Given the description of an element on the screen output the (x, y) to click on. 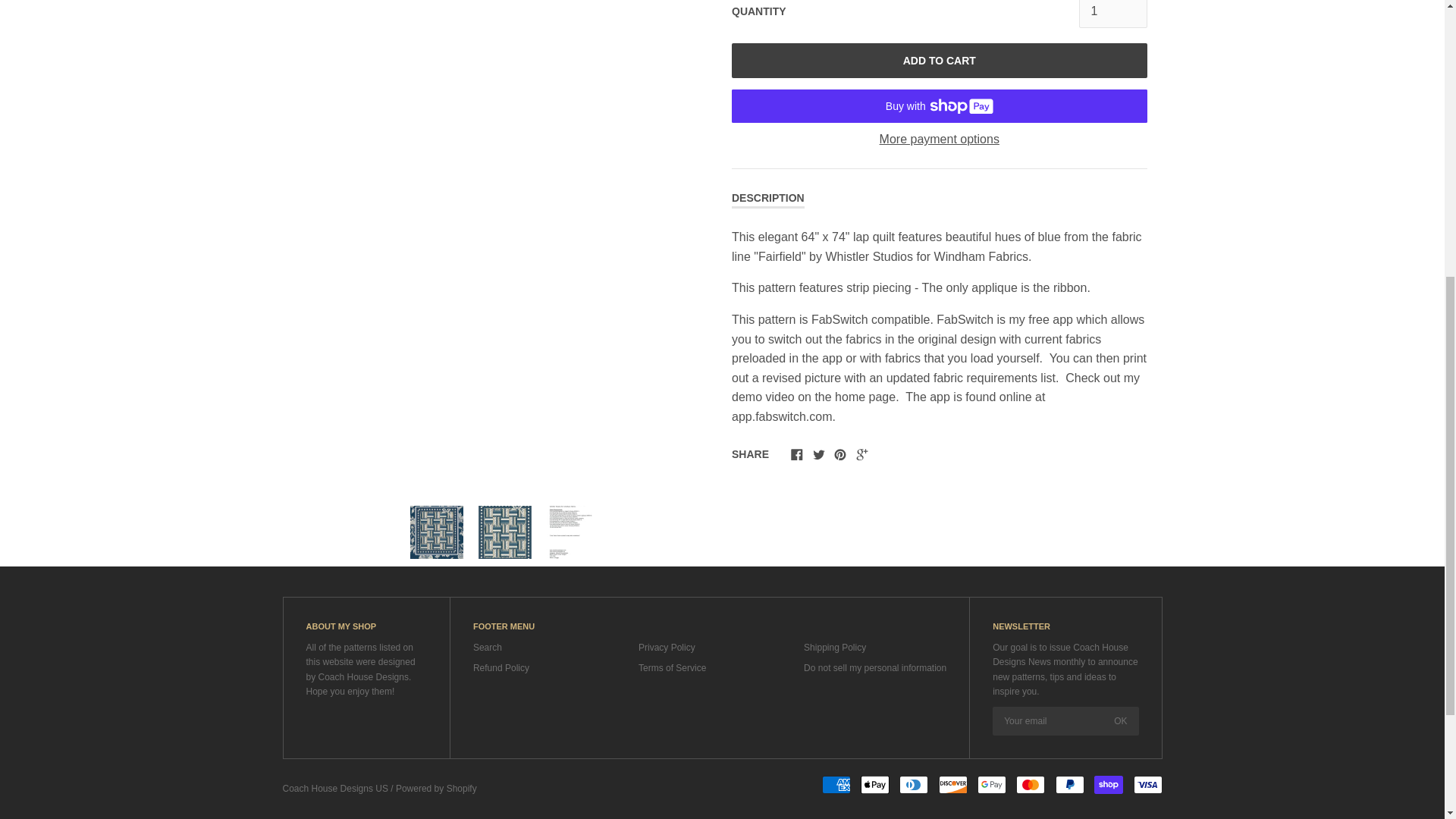
PayPal (1069, 784)
Facebook (796, 453)
Apple Pay (874, 784)
1 (1112, 13)
Pinterest (839, 453)
American Express (836, 784)
Visa (1146, 784)
Diners Club (913, 784)
Google Pay (991, 784)
Shop Pay (1108, 784)
Mastercard (1030, 784)
OK (1120, 720)
Twitter (818, 453)
Discover (953, 784)
